Given the description of an element on the screen output the (x, y) to click on. 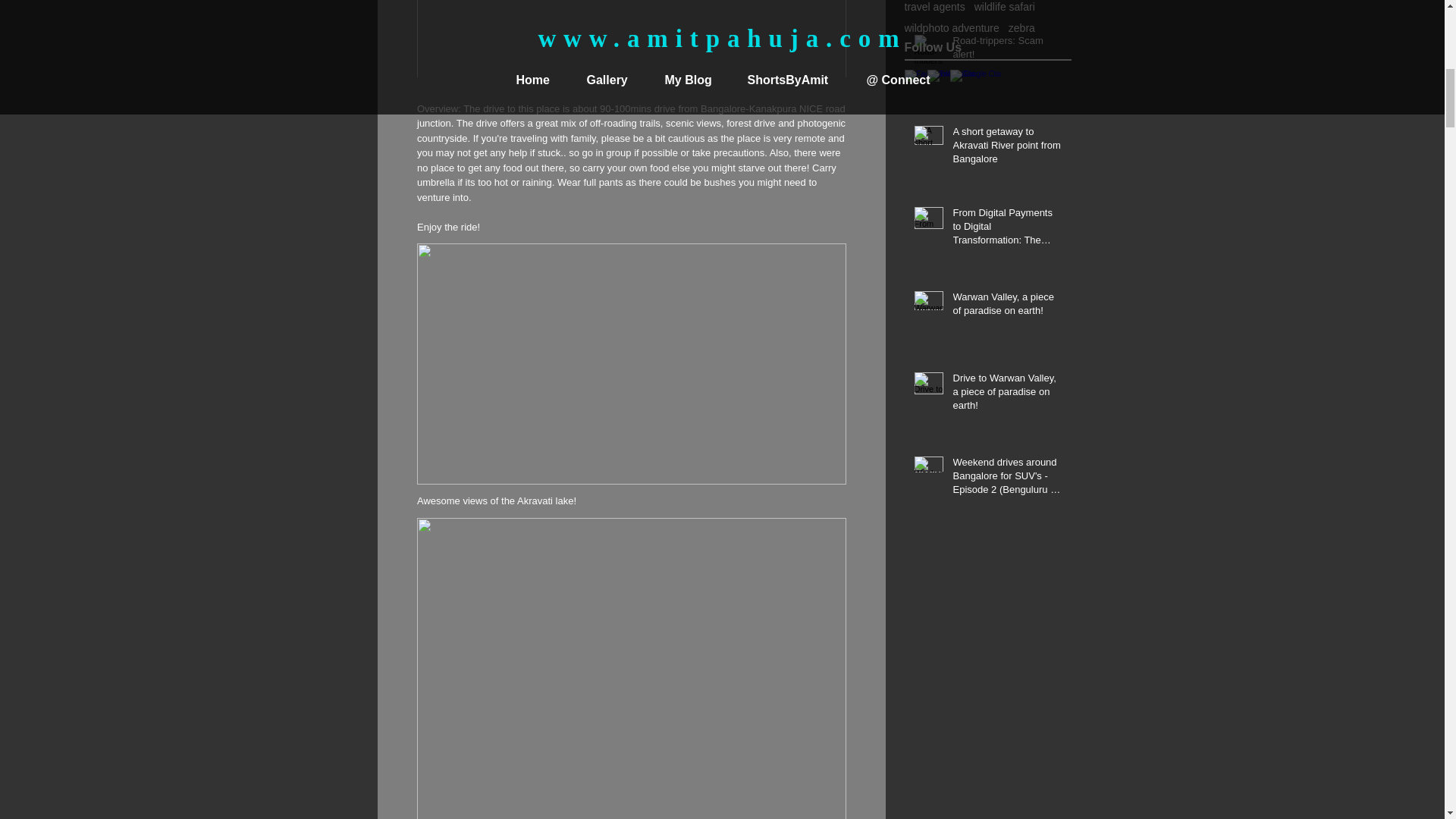
Warwan Valley, a piece of paradise on earth! (1006, 306)
Drive to Warwan Valley, a piece of paradise on earth! (1006, 395)
A short getaway to Akravati River point from Bangalore (1006, 148)
Road-trippers: Scam alert! (1006, 50)
